Given the description of an element on the screen output the (x, y) to click on. 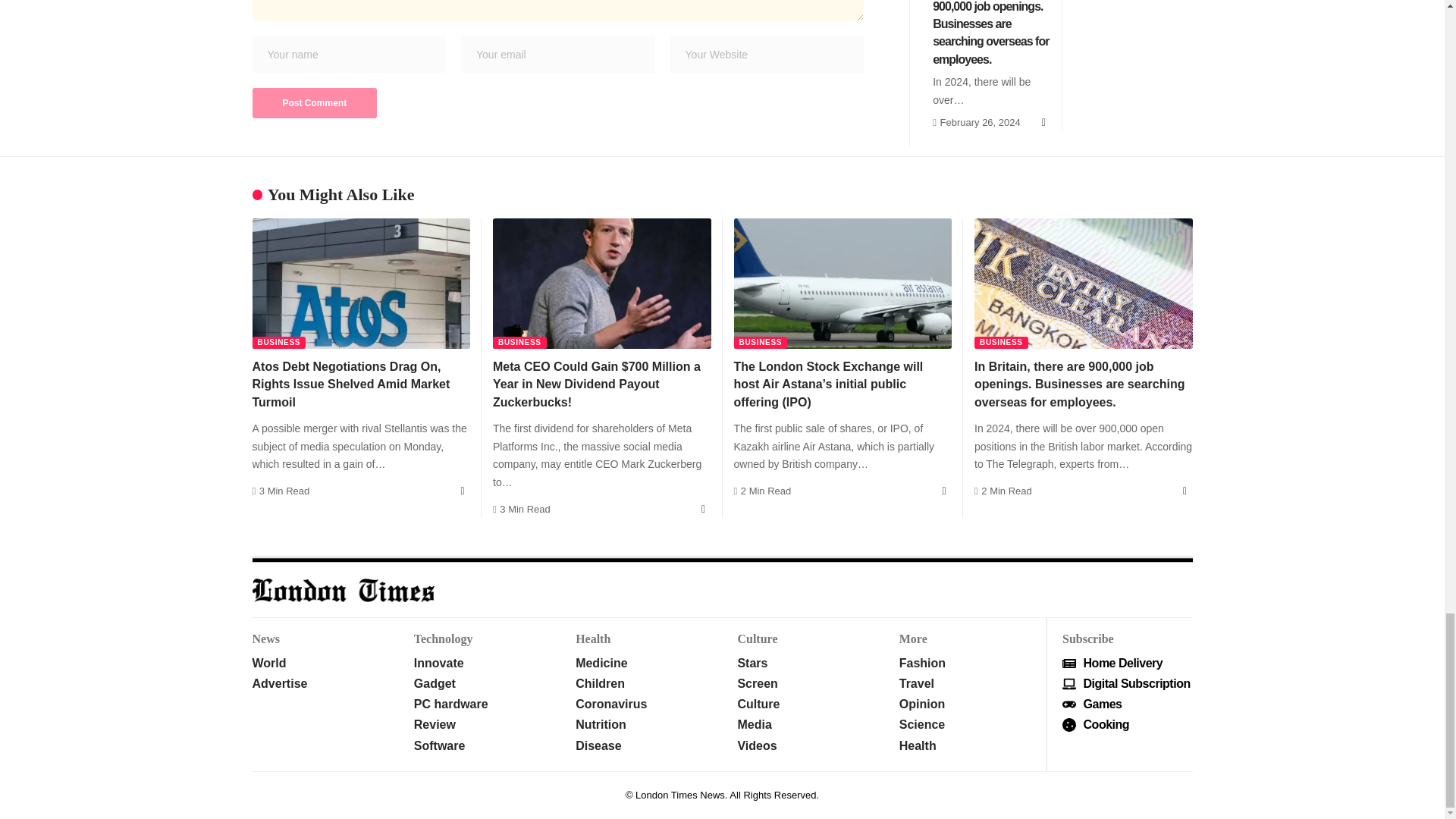
Post Comment (314, 102)
